Given the description of an element on the screen output the (x, y) to click on. 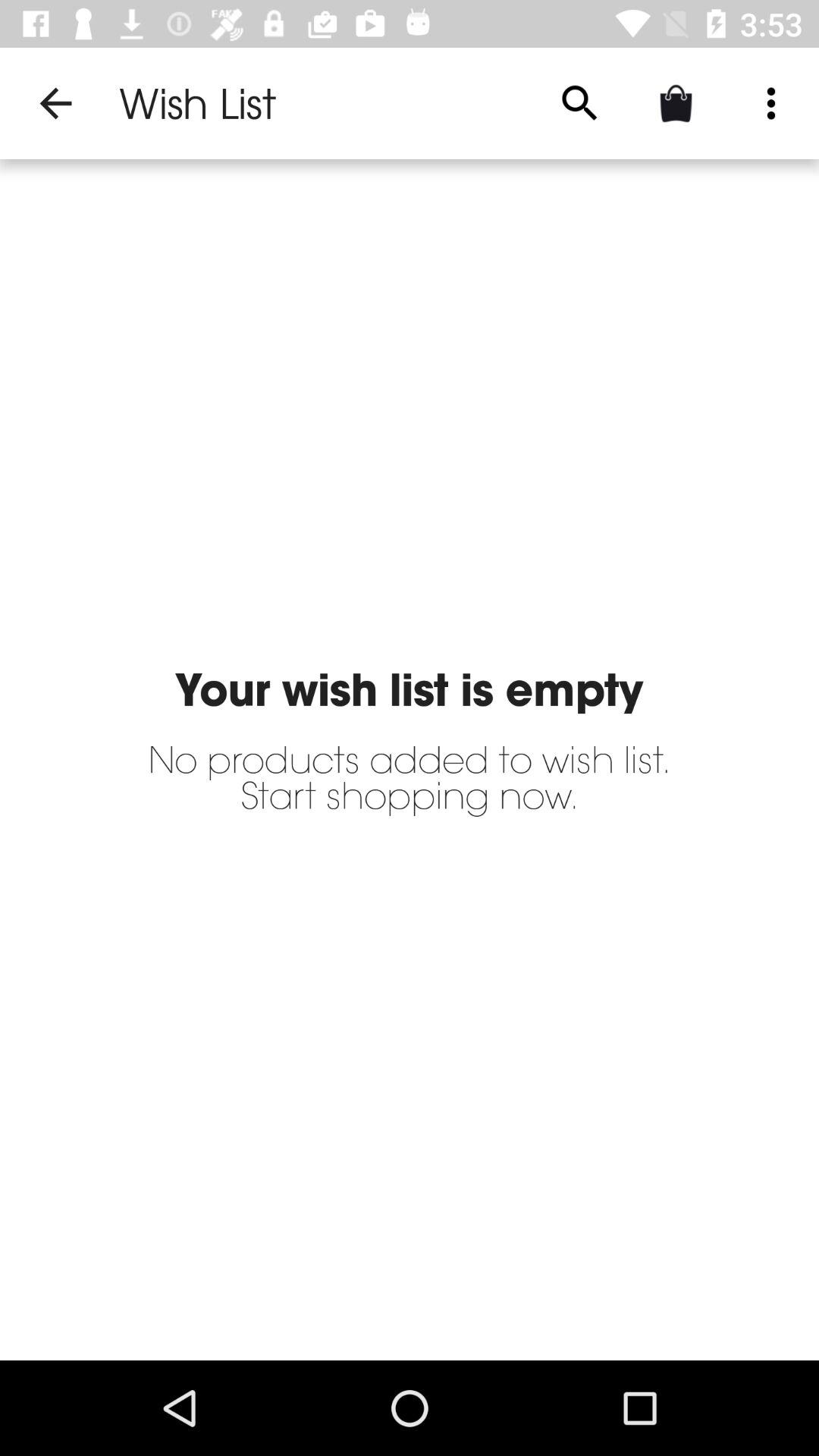
launch the app next to wish list icon (55, 103)
